Given the description of an element on the screen output the (x, y) to click on. 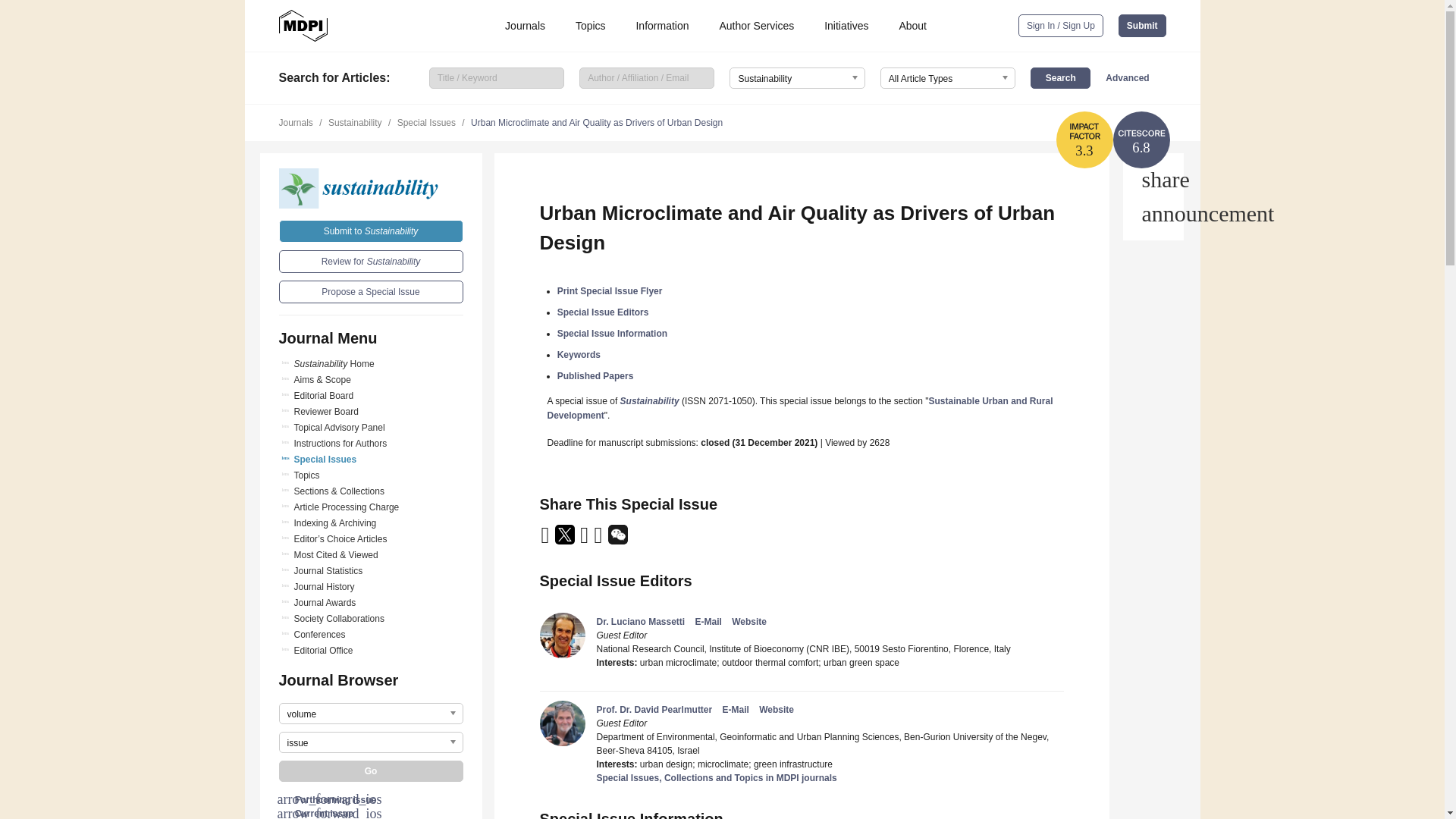
Email (546, 539)
Go (371, 771)
MDPI Open Access Journals (303, 25)
LinkedIn (585, 539)
Share (1152, 179)
Sustainability (371, 188)
facebook (599, 539)
Search (1060, 77)
Search (1060, 77)
Wechat (617, 539)
Help (1152, 213)
Twitter (565, 539)
